Given the description of an element on the screen output the (x, y) to click on. 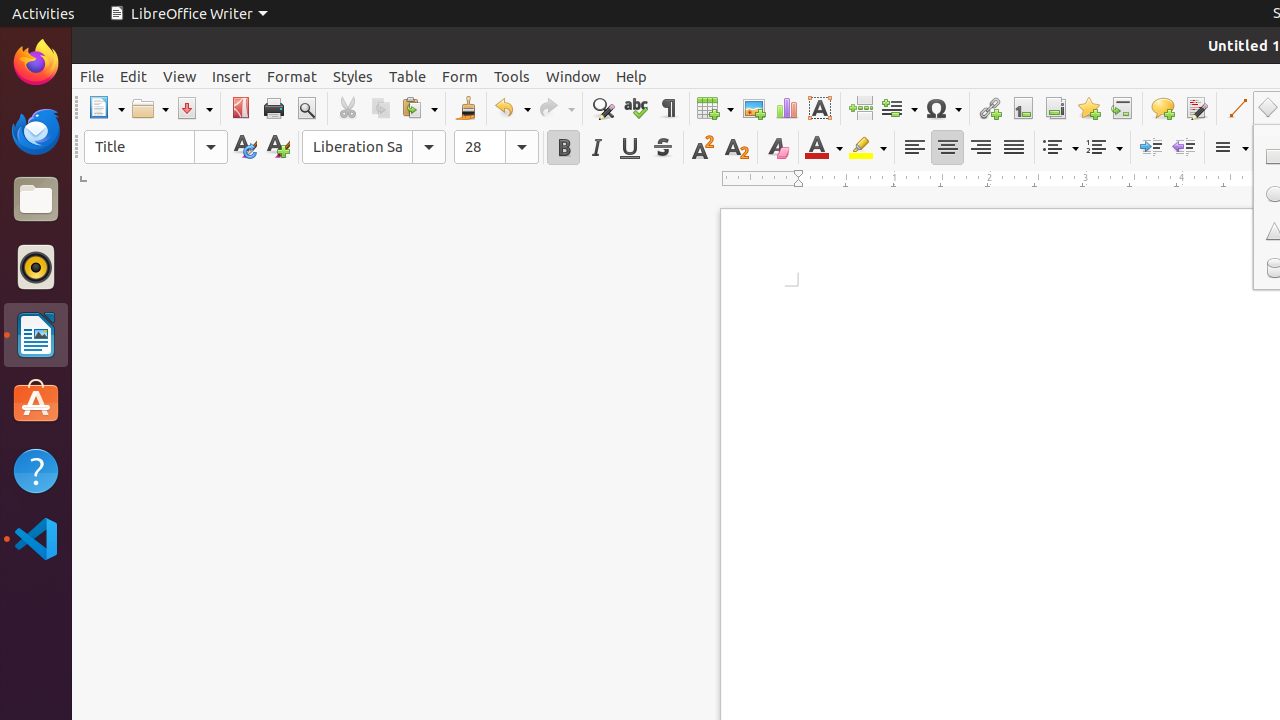
Strikethrough Element type: toggle-button (662, 147)
Print Element type: push-button (273, 108)
Visual Studio Code Element type: push-button (36, 538)
Help Element type: menu (631, 76)
Insert Element type: menu (231, 76)
